Given the description of an element on the screen output the (x, y) to click on. 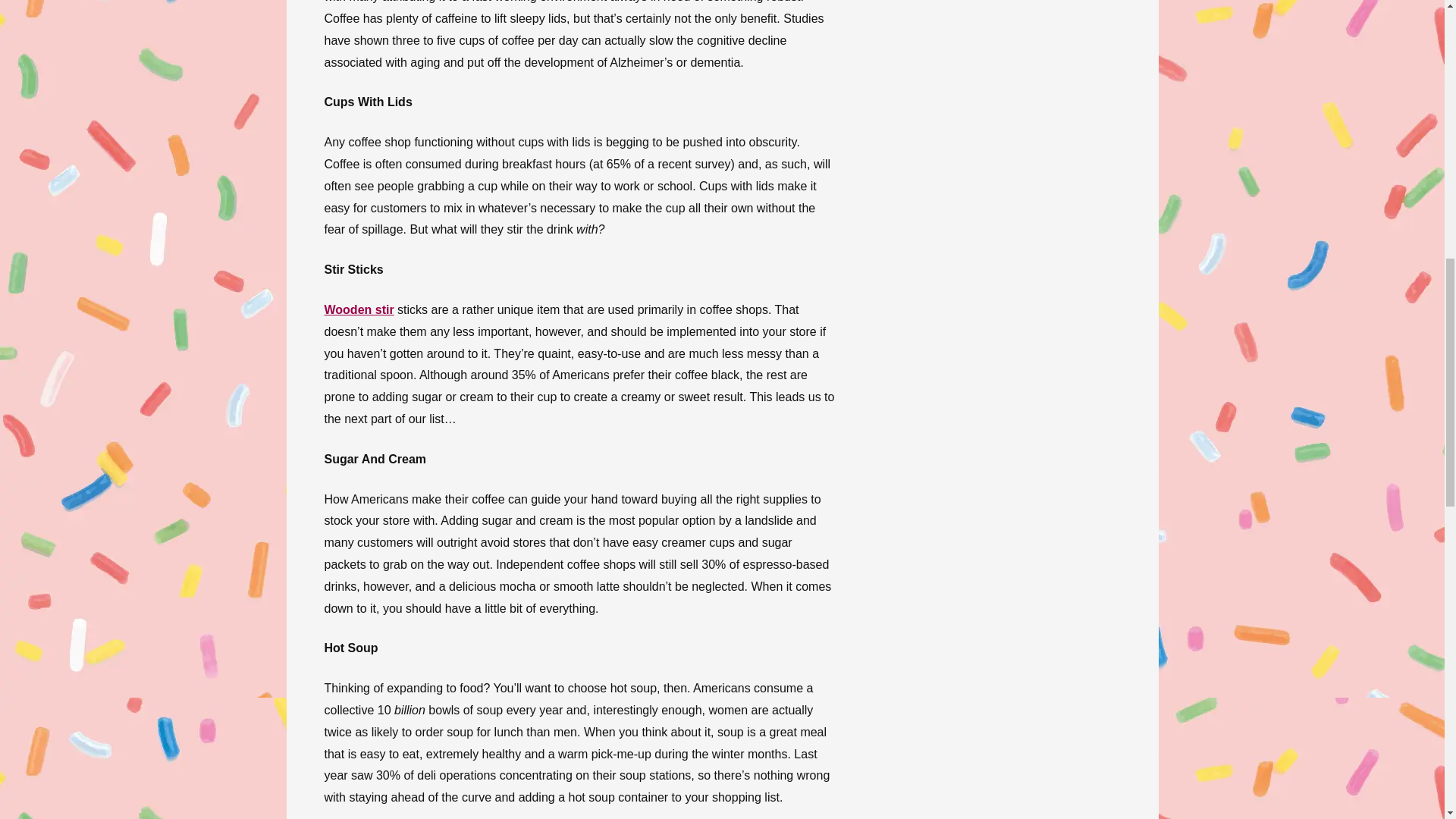
Stuff I like (359, 309)
Wooden stir (359, 309)
